Given the description of an element on the screen output the (x, y) to click on. 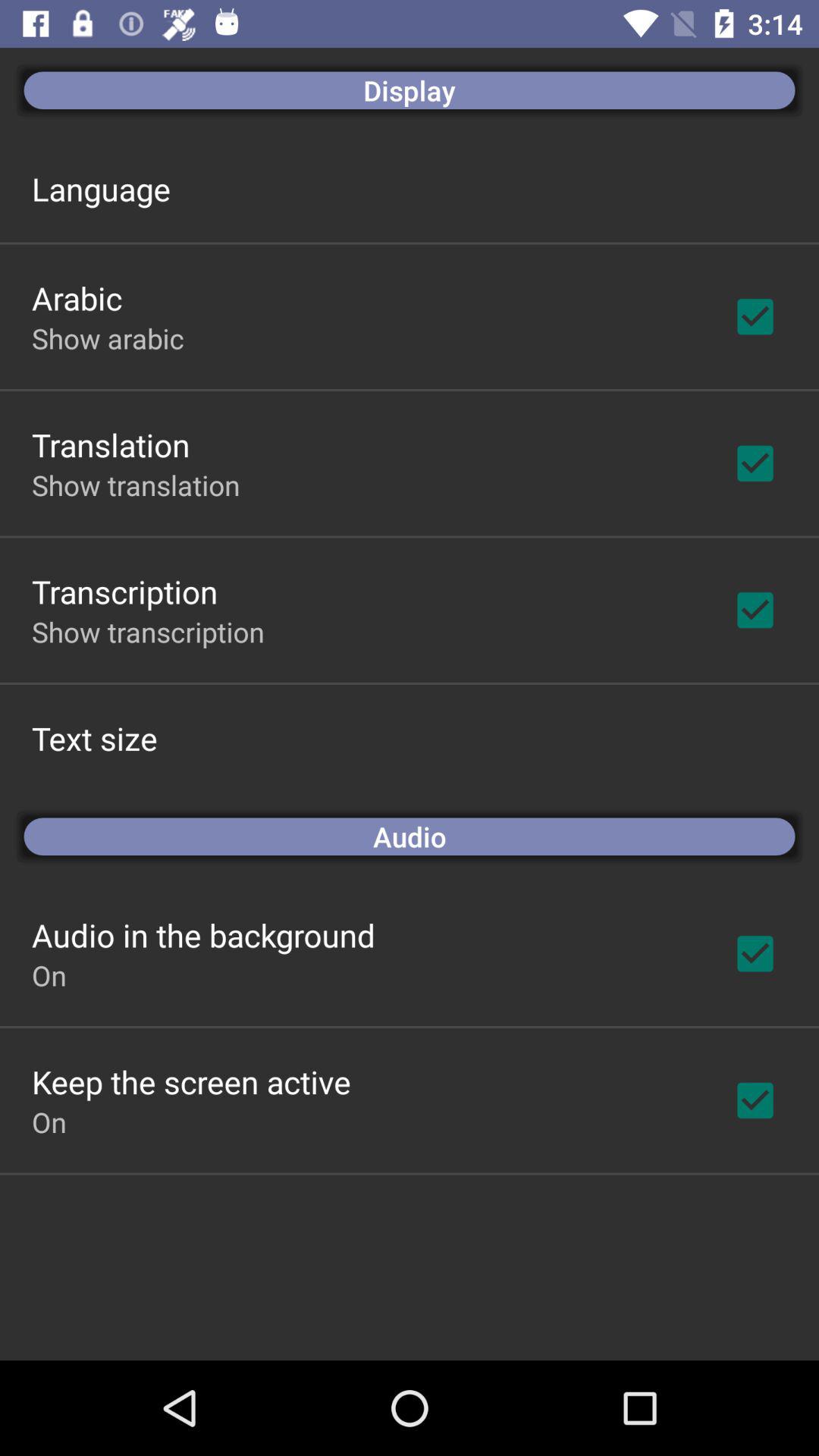
press the item above the audio app (94, 737)
